Given the description of an element on the screen output the (x, y) to click on. 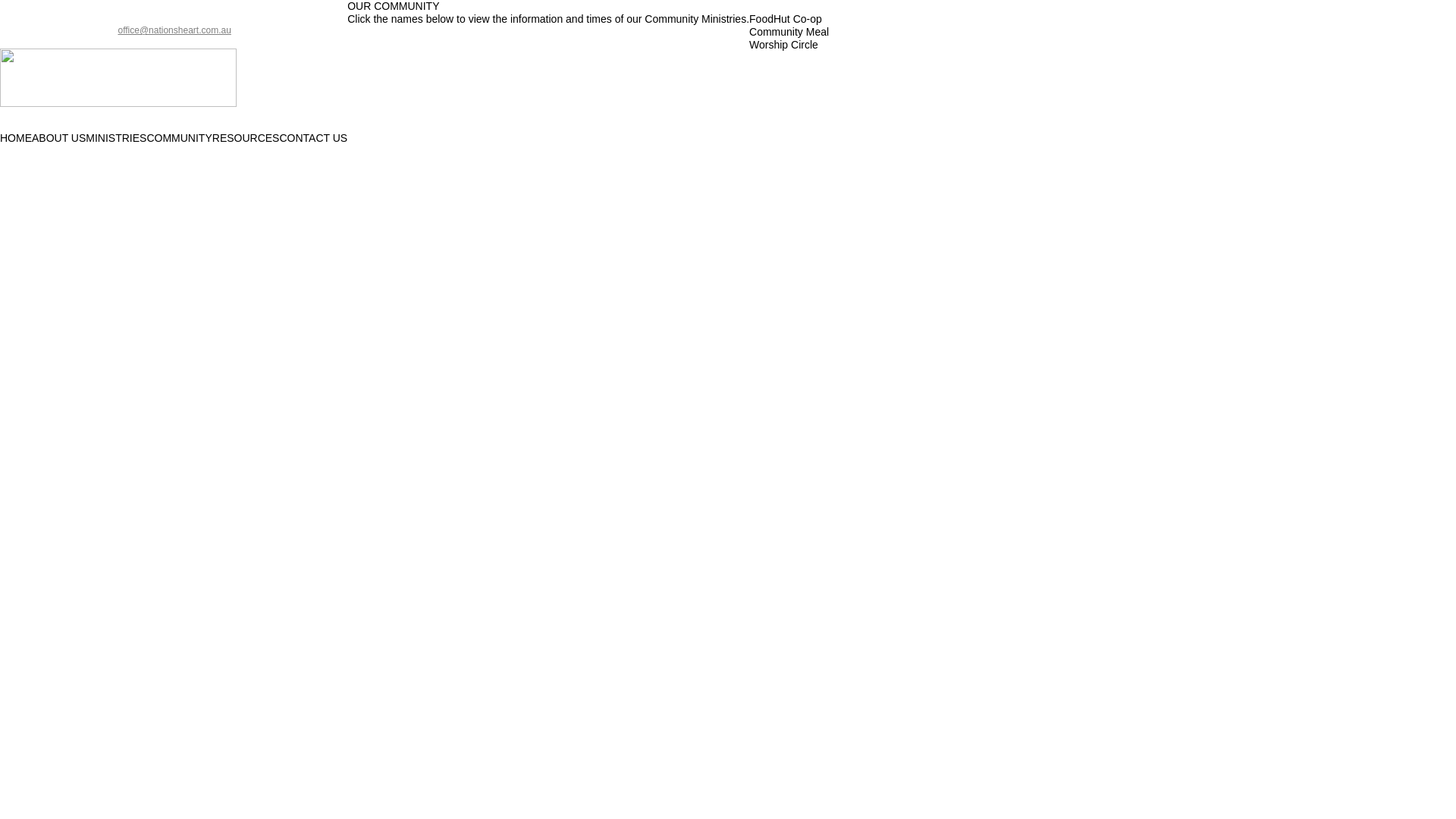
HOME Element type: text (15, 137)
MINISTRIES Element type: text (115, 137)
RESOURCES Element type: text (245, 137)
COMMUNITY Element type: text (178, 137)
CONTACT US Element type: text (313, 137)
ABOUT US Element type: text (58, 137)
office@nationsheart.com.au Element type: text (173, 30)
